Given the description of an element on the screen output the (x, y) to click on. 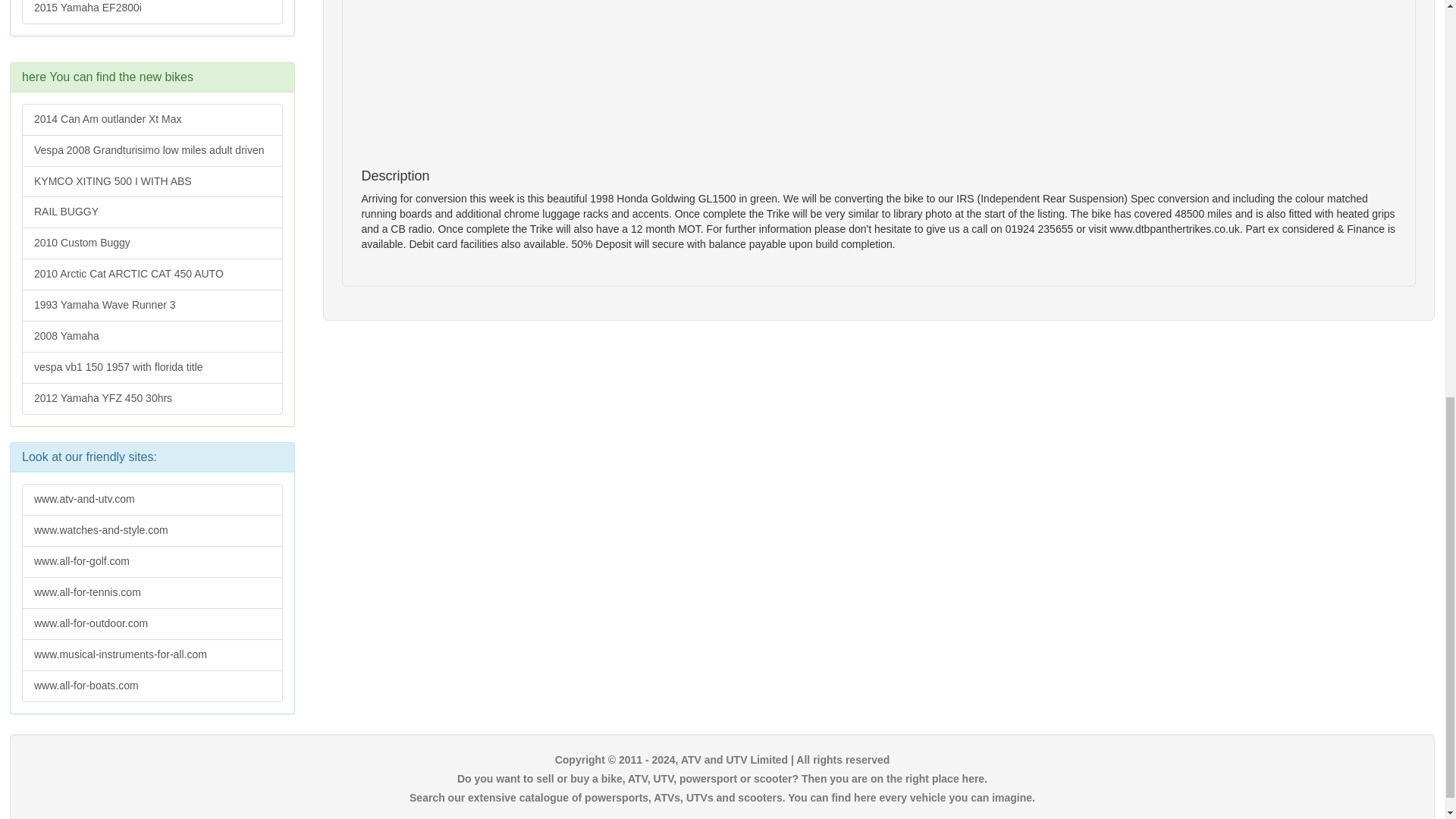
www.watches-and-style.com (151, 531)
Vespa 2008 Grandturisimo low miles adult driven (151, 151)
2010 Custom Buggy (151, 243)
Advertisement (816, 28)
1993 Yamaha Wave Runner 3 (151, 305)
KYMCO XITING 500 I WITH ABS (151, 182)
2015 Yamaha EF2800i (151, 12)
RAIL BUGGY (151, 212)
www.all-for-tennis.com (151, 593)
2014 Can Am outlander Xt Max (151, 119)
